Given the description of an element on the screen output the (x, y) to click on. 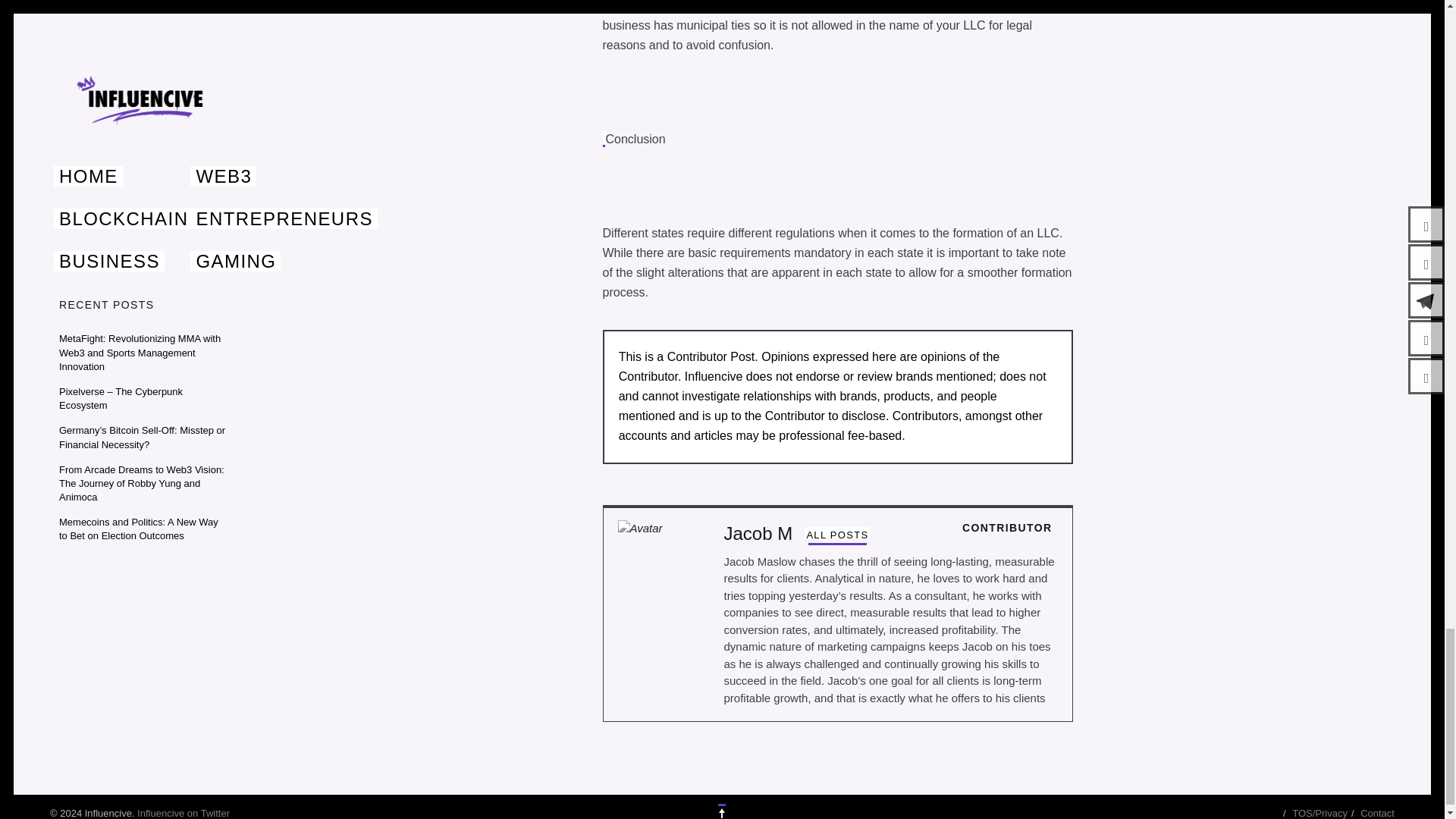
View all posts by Jacob M (837, 535)
ALL POSTS (837, 535)
